Given the description of an element on the screen output the (x, y) to click on. 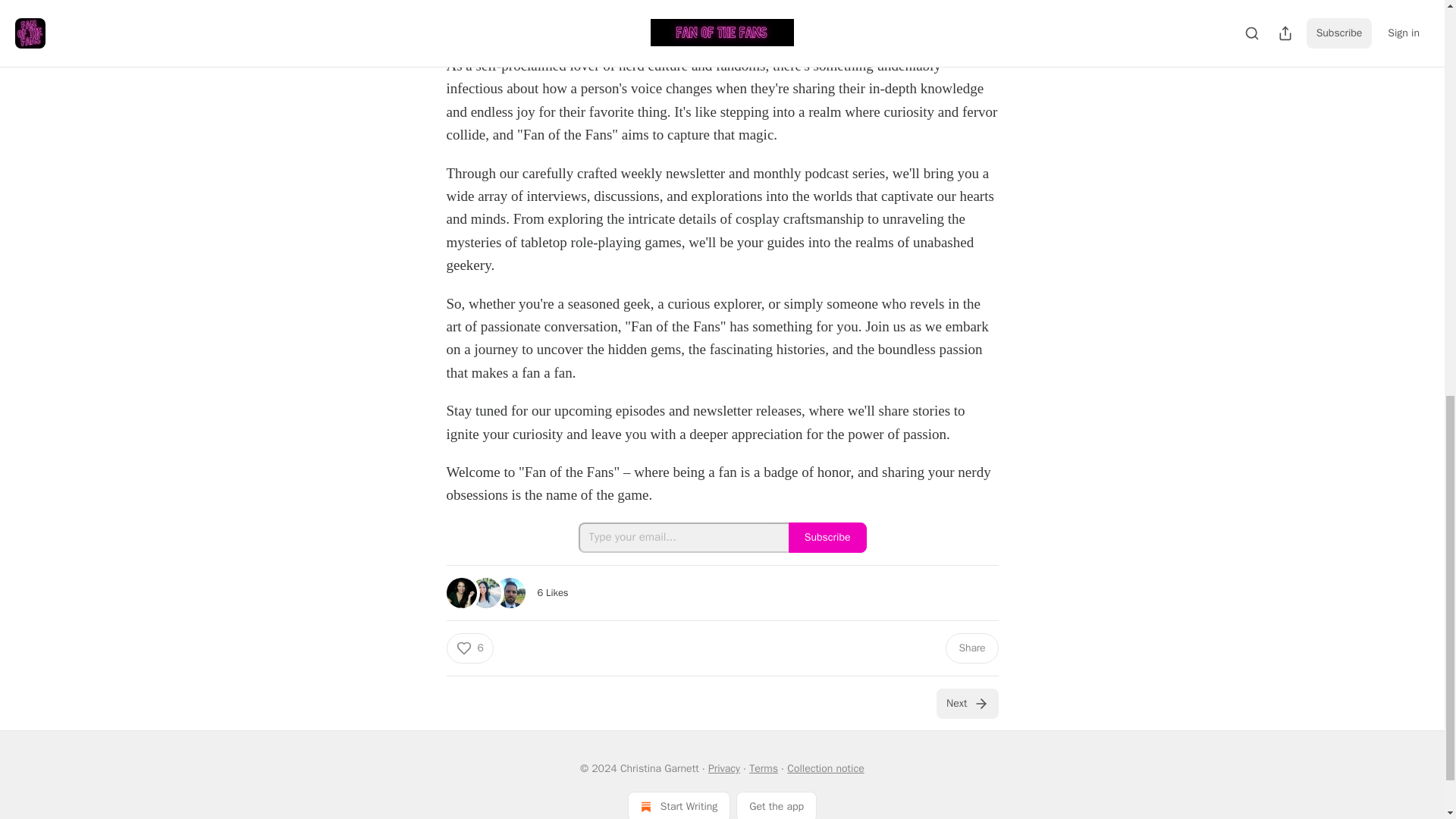
Collection notice (825, 768)
Subscribe (827, 537)
Privacy (723, 768)
Next (966, 703)
6 (469, 648)
Share (970, 648)
6 Likes (552, 592)
Terms (763, 768)
